Given the description of an element on the screen output the (x, y) to click on. 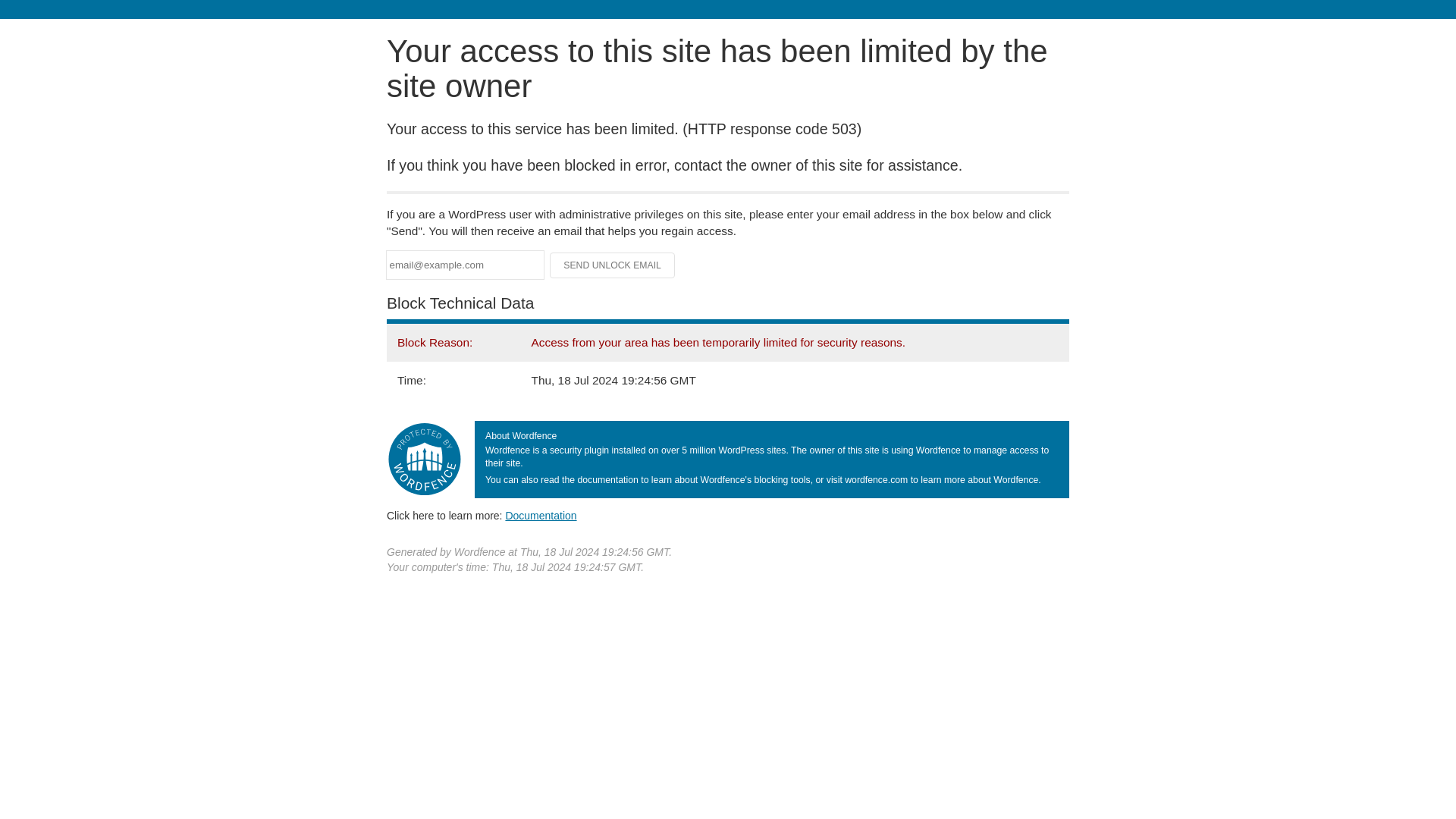
Send Unlock Email (612, 265)
Send Unlock Email (612, 265)
Documentation (540, 515)
